Given the description of an element on the screen output the (x, y) to click on. 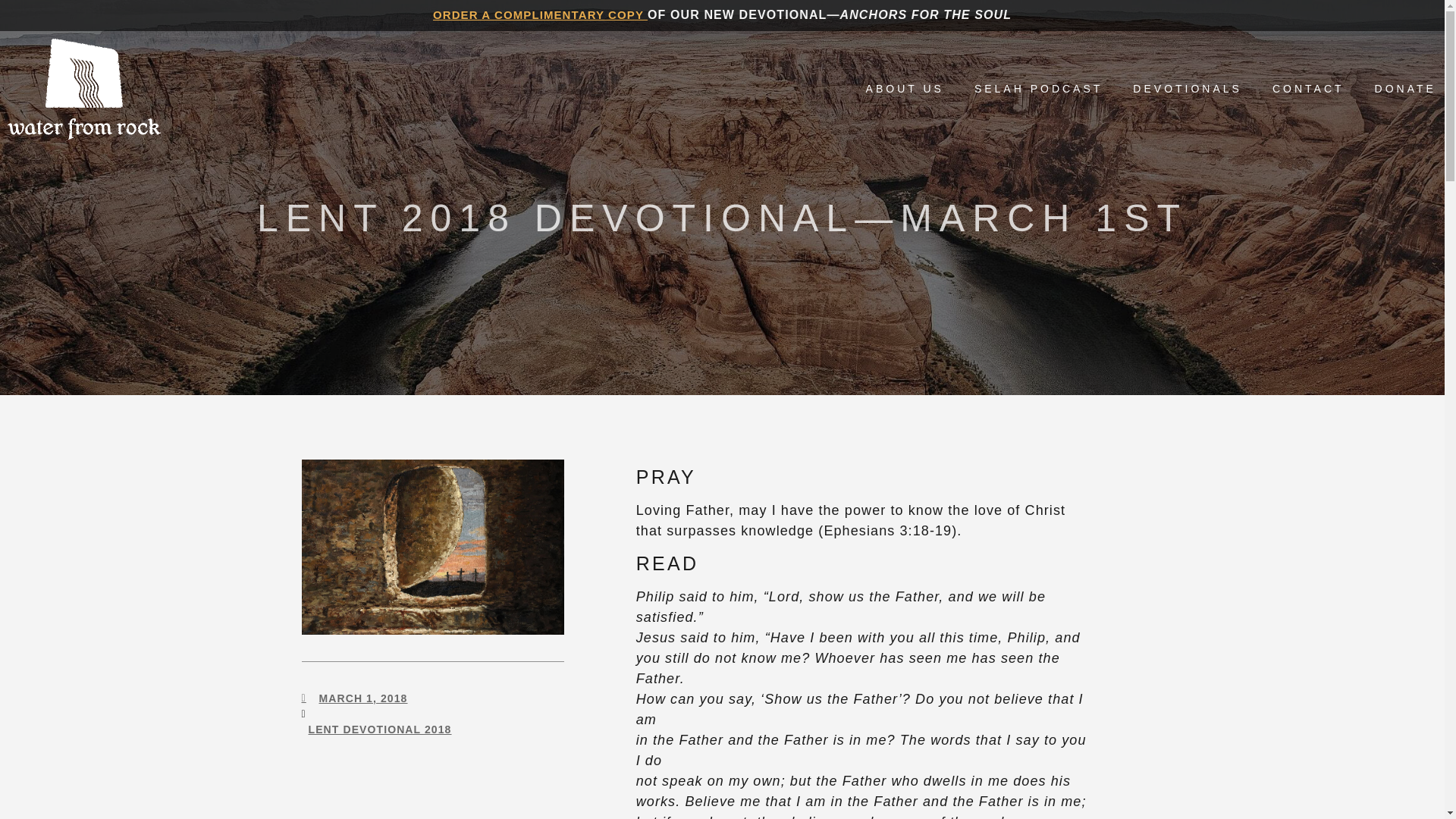
ORDER A COMPLIMENTARY COPY (539, 14)
DEVOTIONALS (1186, 87)
ABOUT US (904, 87)
SELAH PODCAST (1038, 87)
CONTACT (1307, 87)
